Given the description of an element on the screen output the (x, y) to click on. 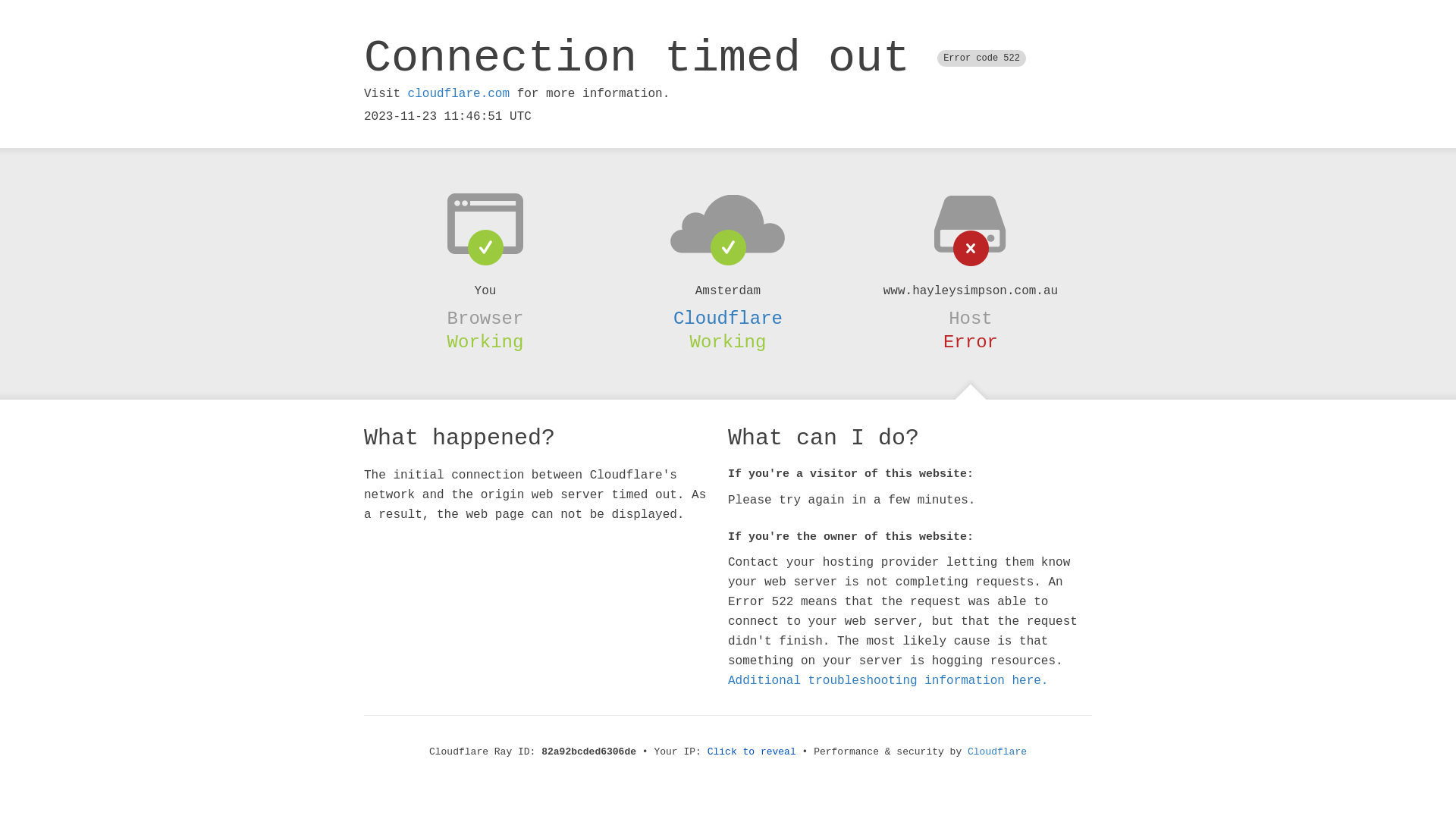
Additional troubleshooting information here. Element type: text (888, 680)
Cloudflare Element type: text (996, 751)
Cloudflare Element type: text (727, 318)
cloudflare.com Element type: text (458, 93)
Click to reveal Element type: text (751, 751)
